Given the description of an element on the screen output the (x, y) to click on. 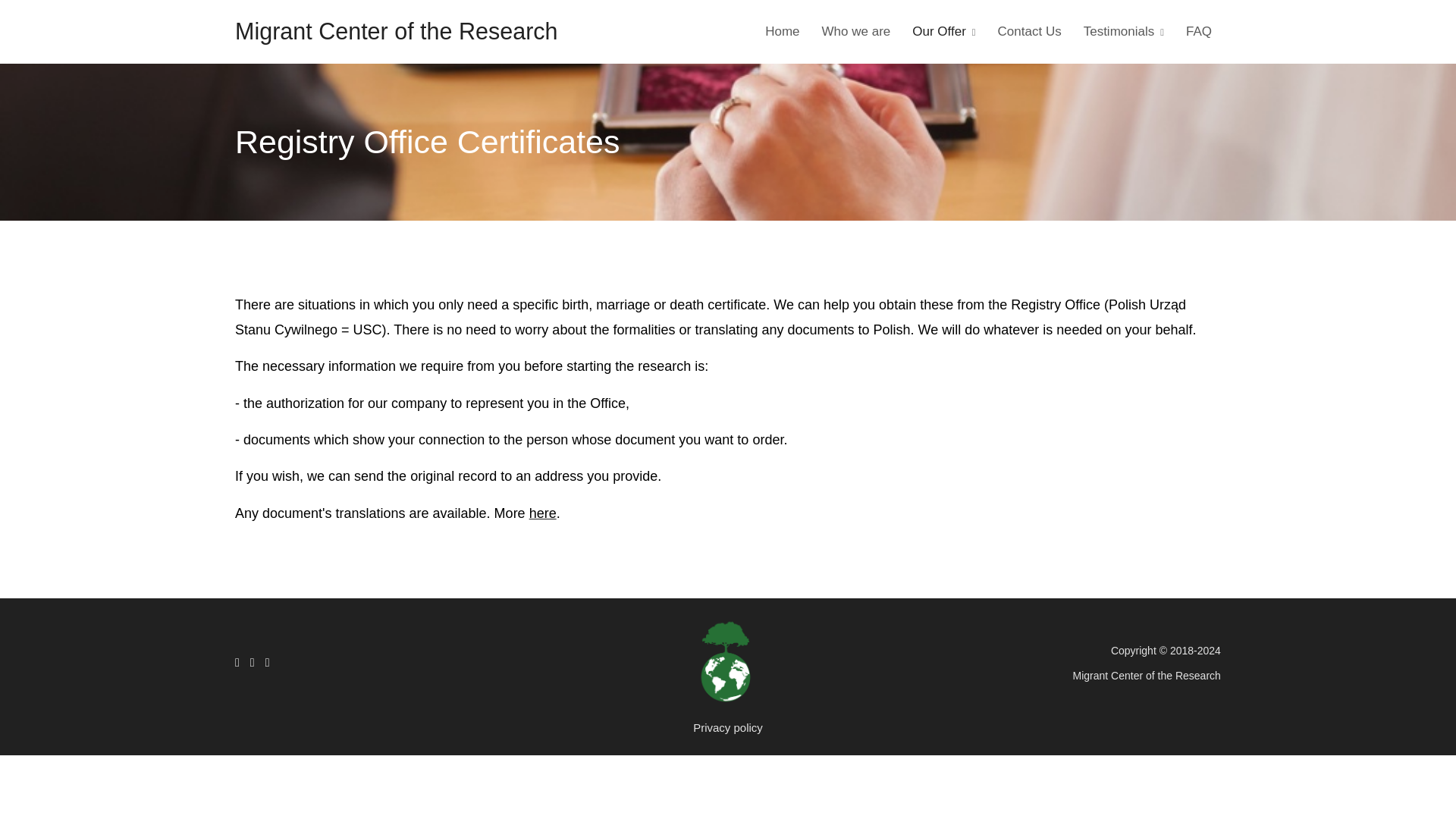
here (542, 513)
Migrant Center of the Research (395, 31)
Contact Us (1029, 31)
Privacy policy (727, 728)
FAQ (1198, 31)
Home (781, 31)
Who we are (855, 31)
